Given the description of an element on the screen output the (x, y) to click on. 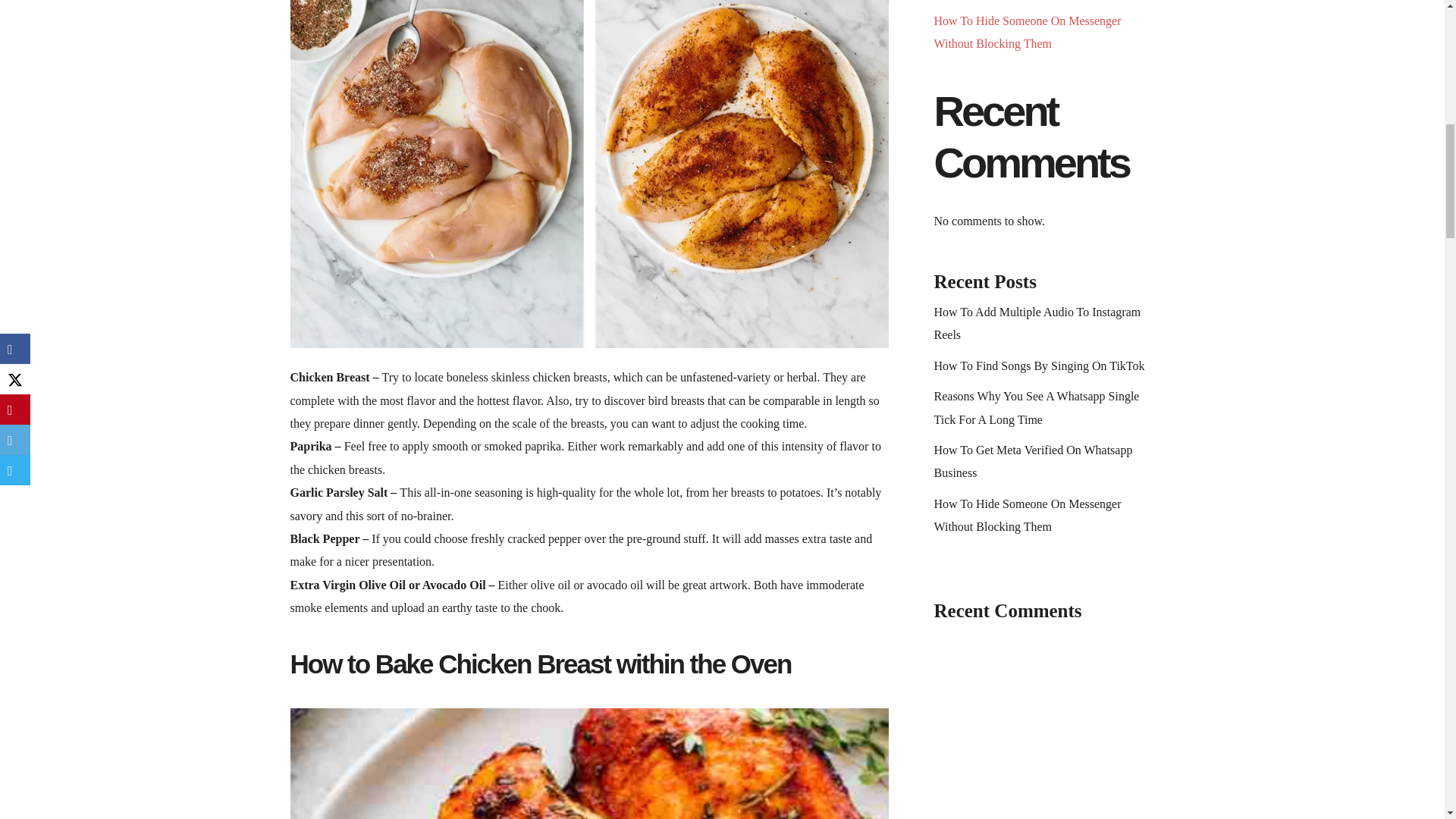
Reasons Why You See A Whatsapp Single Tick For A Long Time (1037, 407)
How To Get Meta Verified On Whatsapp Business (1033, 461)
How To Add Multiple Audio To Instagram Reels (1037, 323)
How To Hide Someone On Messenger Without Blocking Them (1027, 515)
How To Hide Someone On Messenger Without Blocking Them (1027, 31)
How To Find Songs By Singing On TikTok (1039, 365)
